Given the description of an element on the screen output the (x, y) to click on. 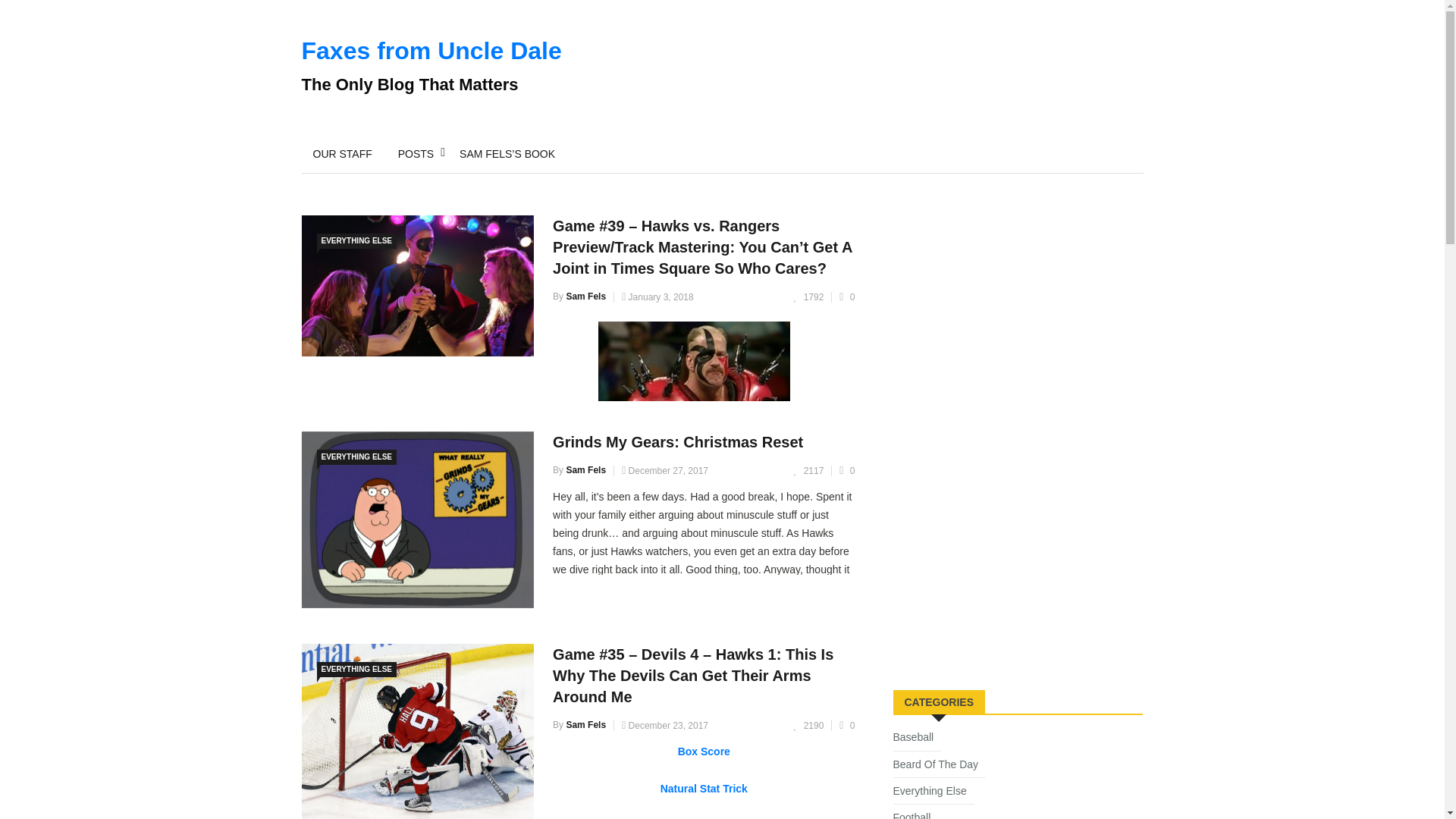
Grinds My Gears: Christmas Reset (678, 442)
POSTS (416, 153)
EVERYTHING ELSE (357, 457)
EVERYTHING ELSE (357, 240)
Sam Fels (585, 470)
Sam Fels (585, 724)
January 3, 2018 (657, 296)
Advertisement (1007, 560)
Natural Stat Trick (704, 788)
Box Score (704, 751)
